Given the description of an element on the screen output the (x, y) to click on. 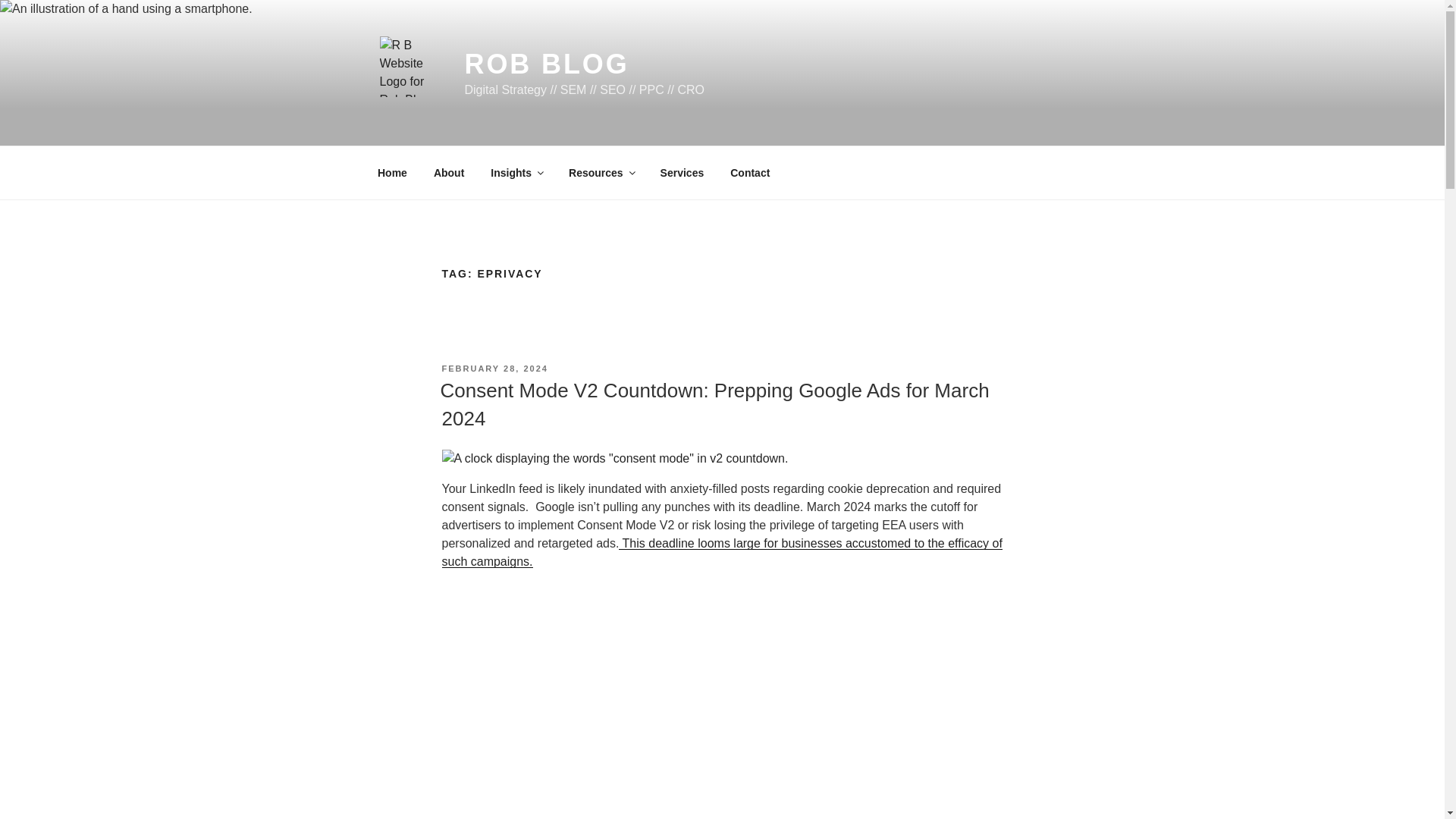
ROB BLOG (546, 63)
Home (392, 172)
Resources (601, 172)
About (448, 172)
Insights (516, 172)
Contact (750, 172)
FEBRUARY 28, 2024 (494, 368)
Services (681, 172)
